Given the description of an element on the screen output the (x, y) to click on. 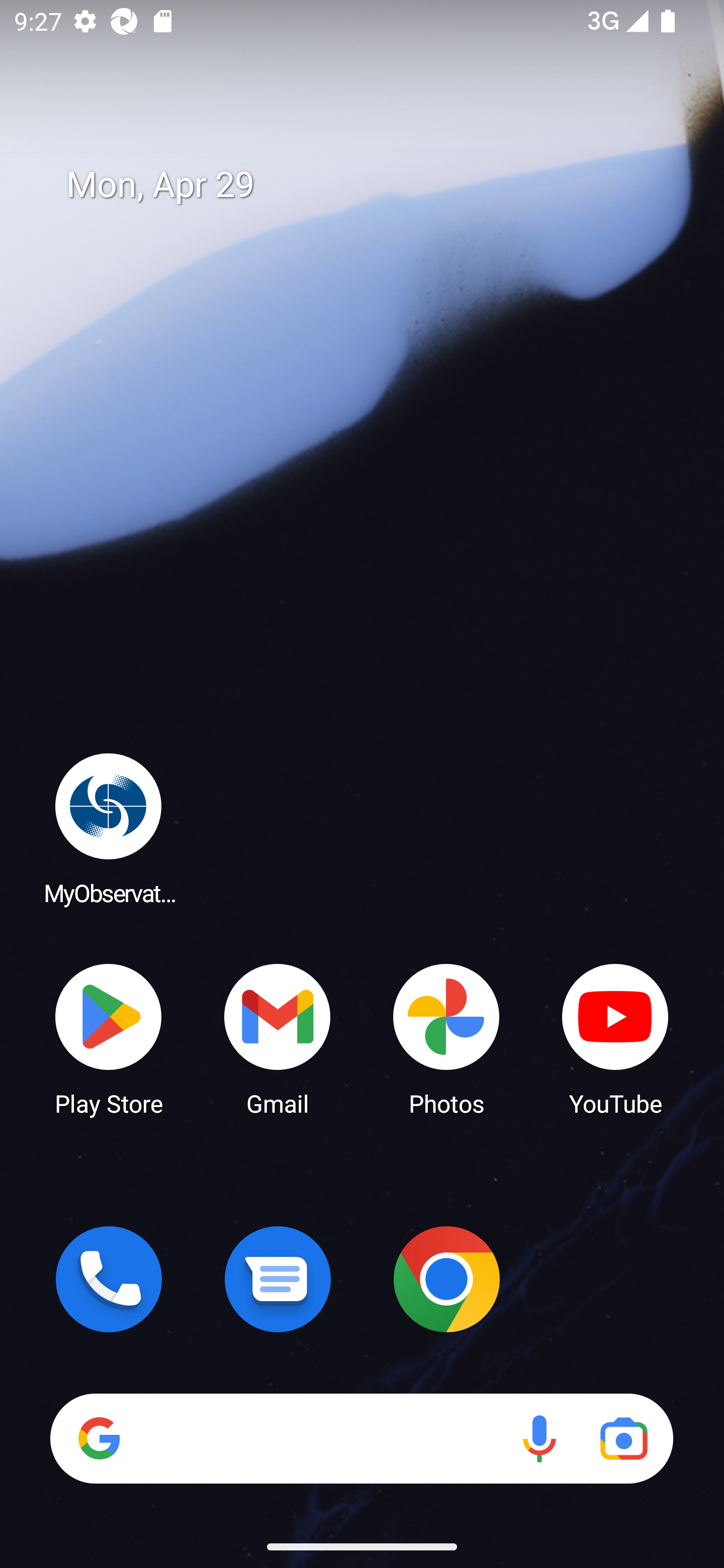
Mon, Apr 29 (375, 184)
MyObservatory (108, 828)
Play Store (108, 1038)
Gmail (277, 1038)
Photos (445, 1038)
YouTube (615, 1038)
Phone (108, 1279)
Messages (277, 1279)
Chrome (446, 1279)
Voice search (539, 1438)
Google Lens (623, 1438)
